Given the description of an element on the screen output the (x, y) to click on. 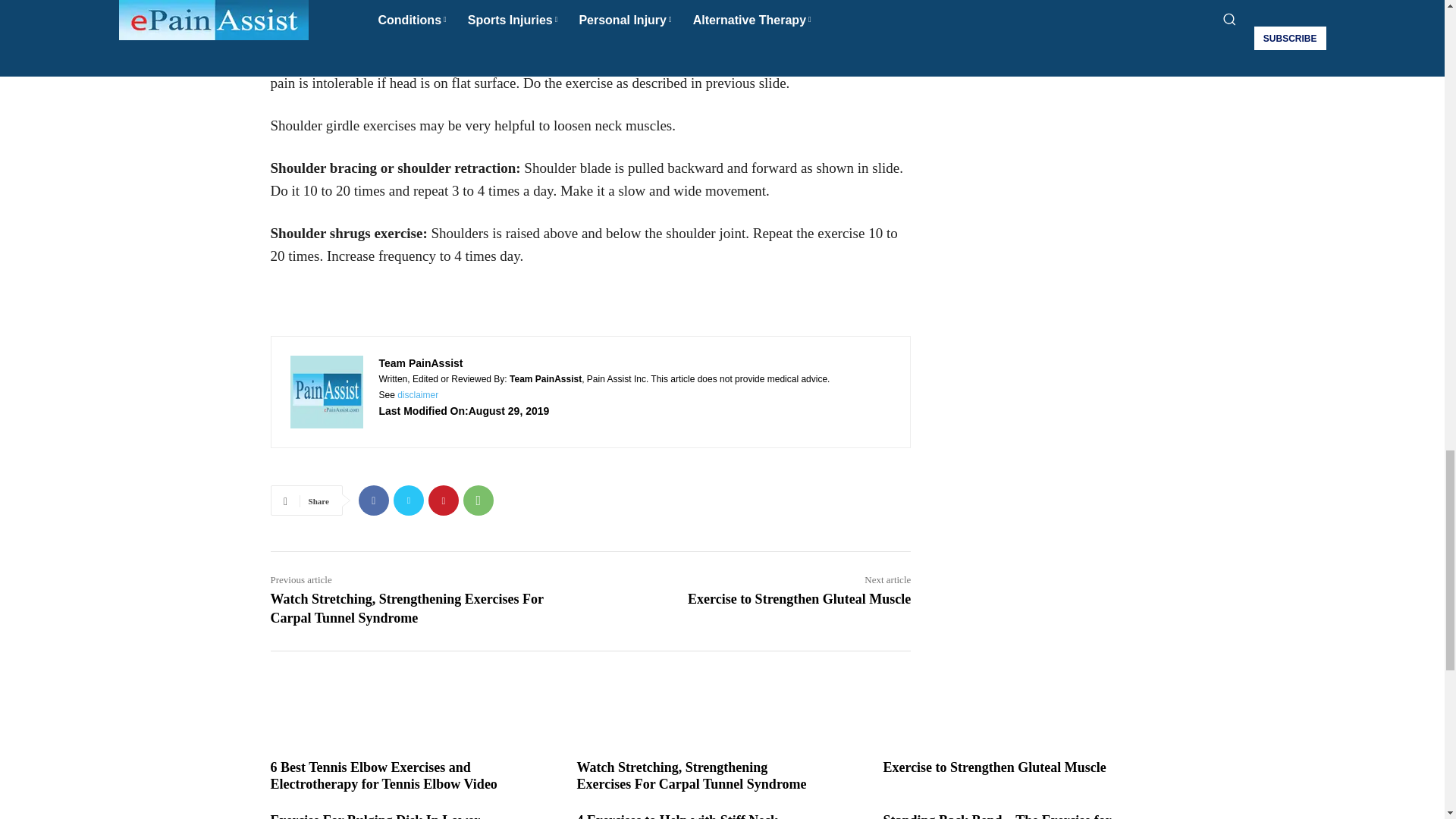
Team PainAssist (325, 391)
Facebook (373, 500)
Twitter (408, 500)
Pinterest (443, 500)
WhatsApp (478, 500)
